Given the description of an element on the screen output the (x, y) to click on. 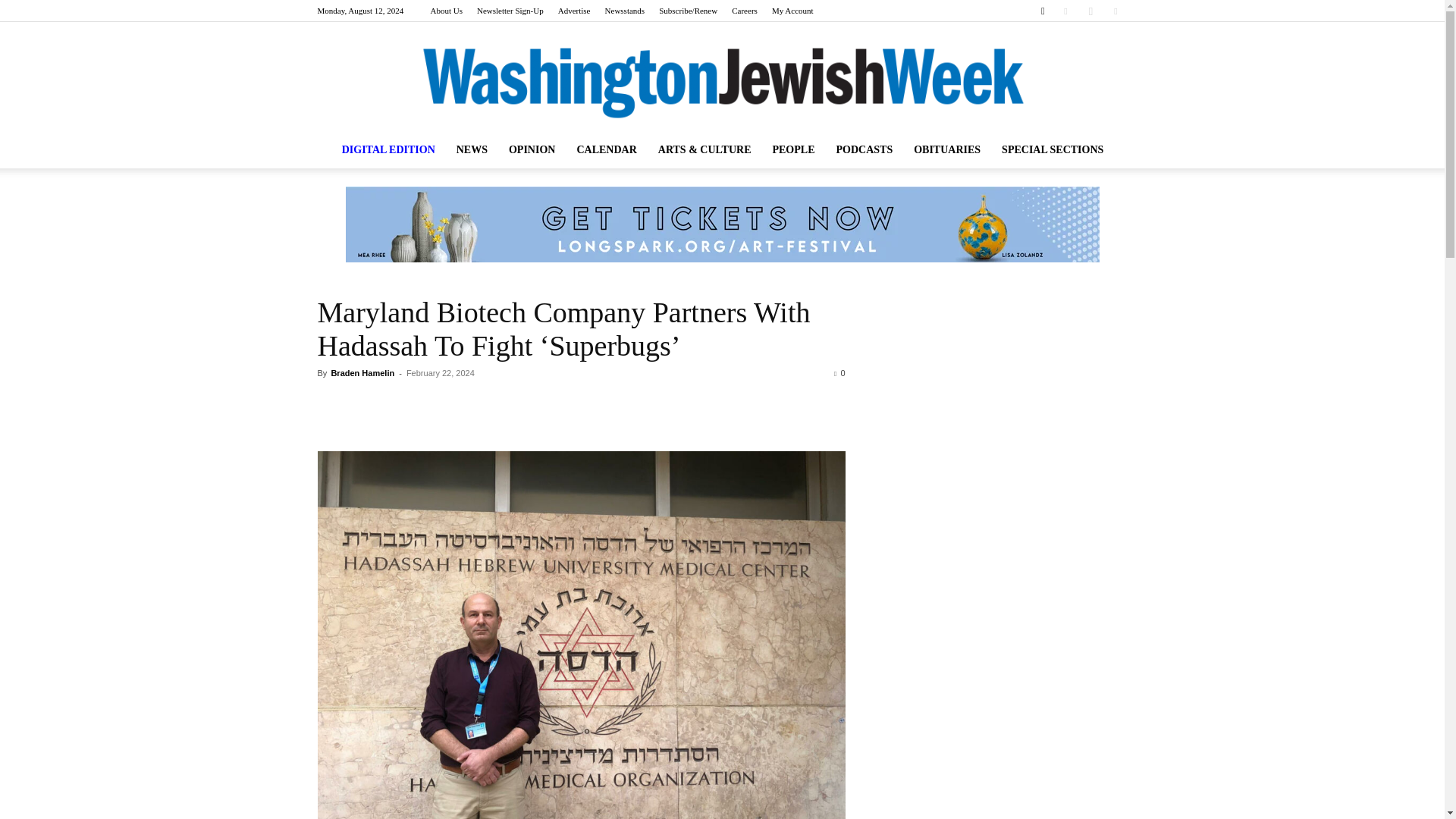
Twitter (1114, 10)
Facebook (1065, 10)
Washington Jewish Week (722, 83)
Instagram (1090, 10)
